Given the description of an element on the screen output the (x, y) to click on. 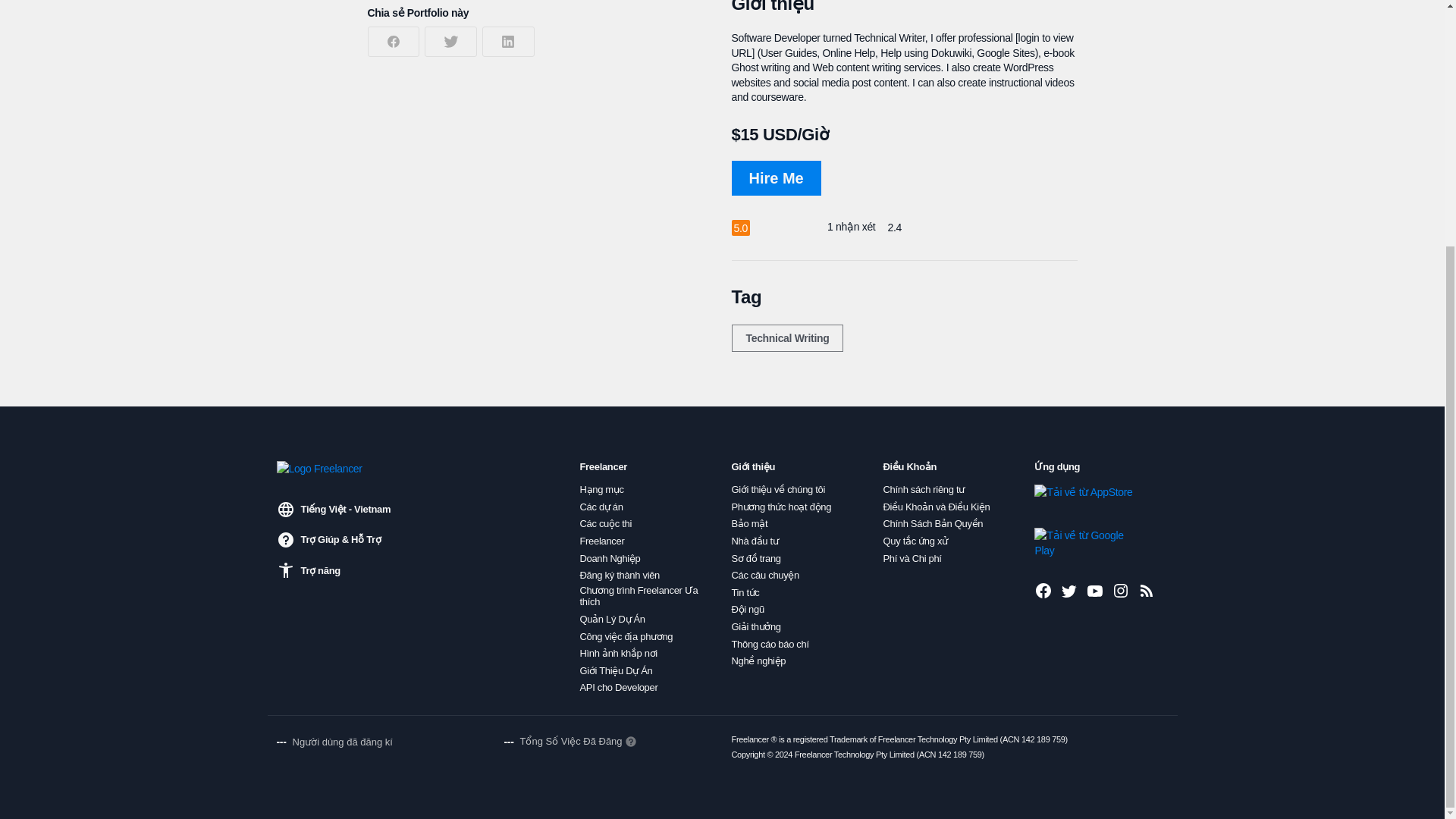
Freelancer (601, 541)
Hire Me (775, 177)
Technical Writing (786, 338)
API cho Developer (618, 687)
